Given the description of an element on the screen output the (x, y) to click on. 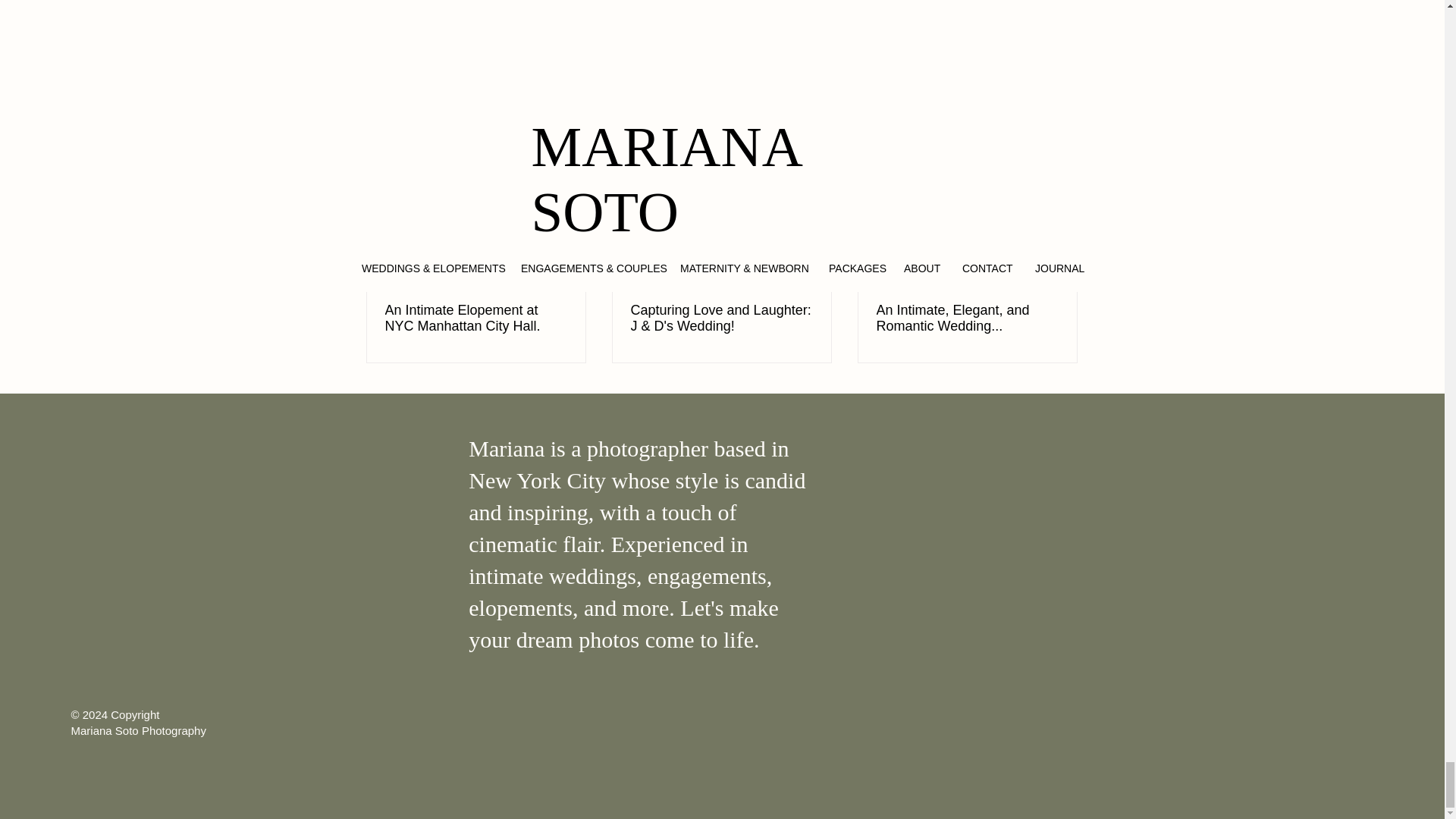
An Intimate Elopement at NYC Manhattan City Hall. (476, 318)
Weddings (979, 37)
An Intimate, Elegant, and Romantic Wedding... (967, 318)
See All (1061, 134)
